Given the description of an element on the screen output the (x, y) to click on. 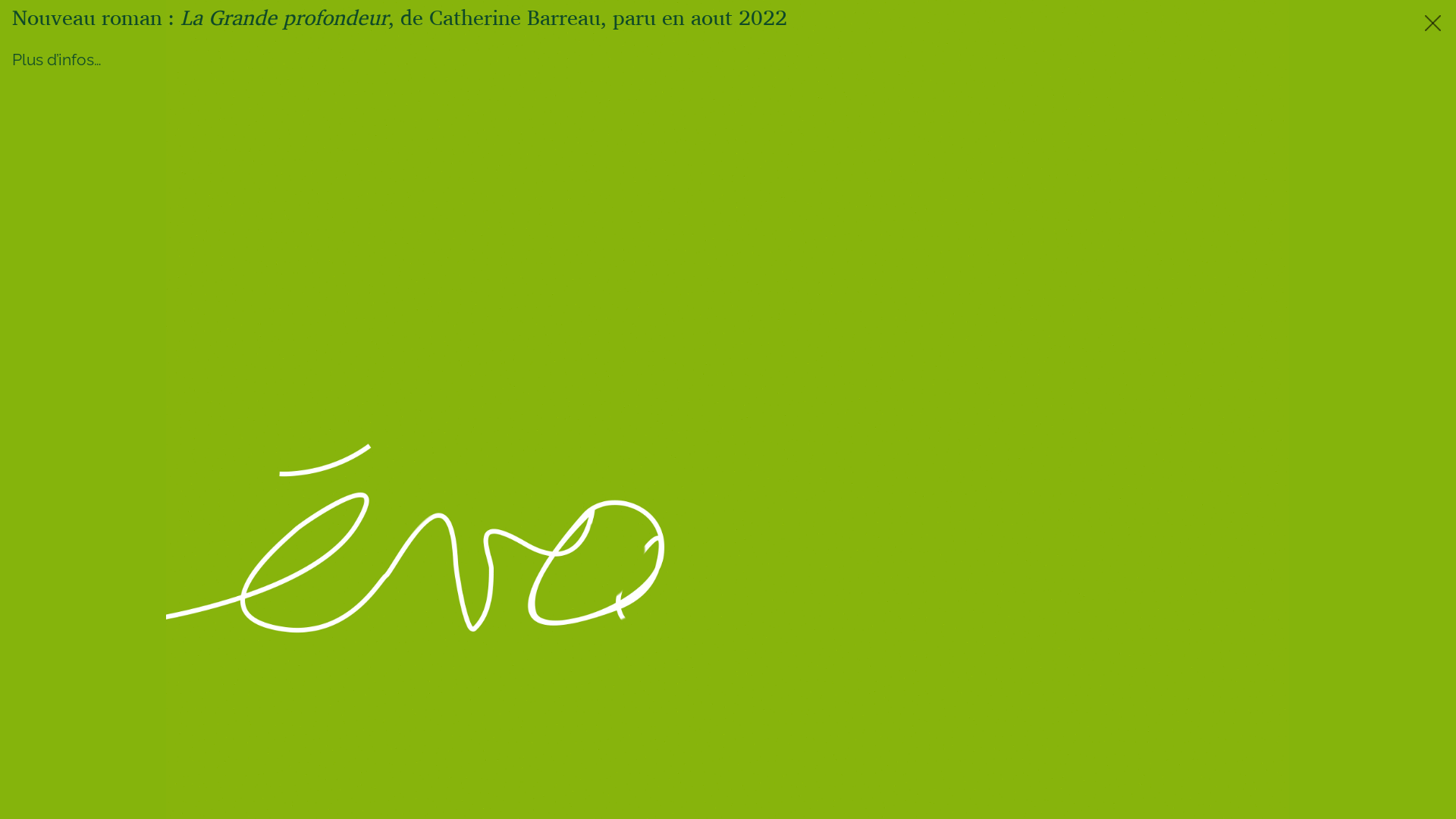
menu Element type: hover (722, 22)
